Given the description of an element on the screen output the (x, y) to click on. 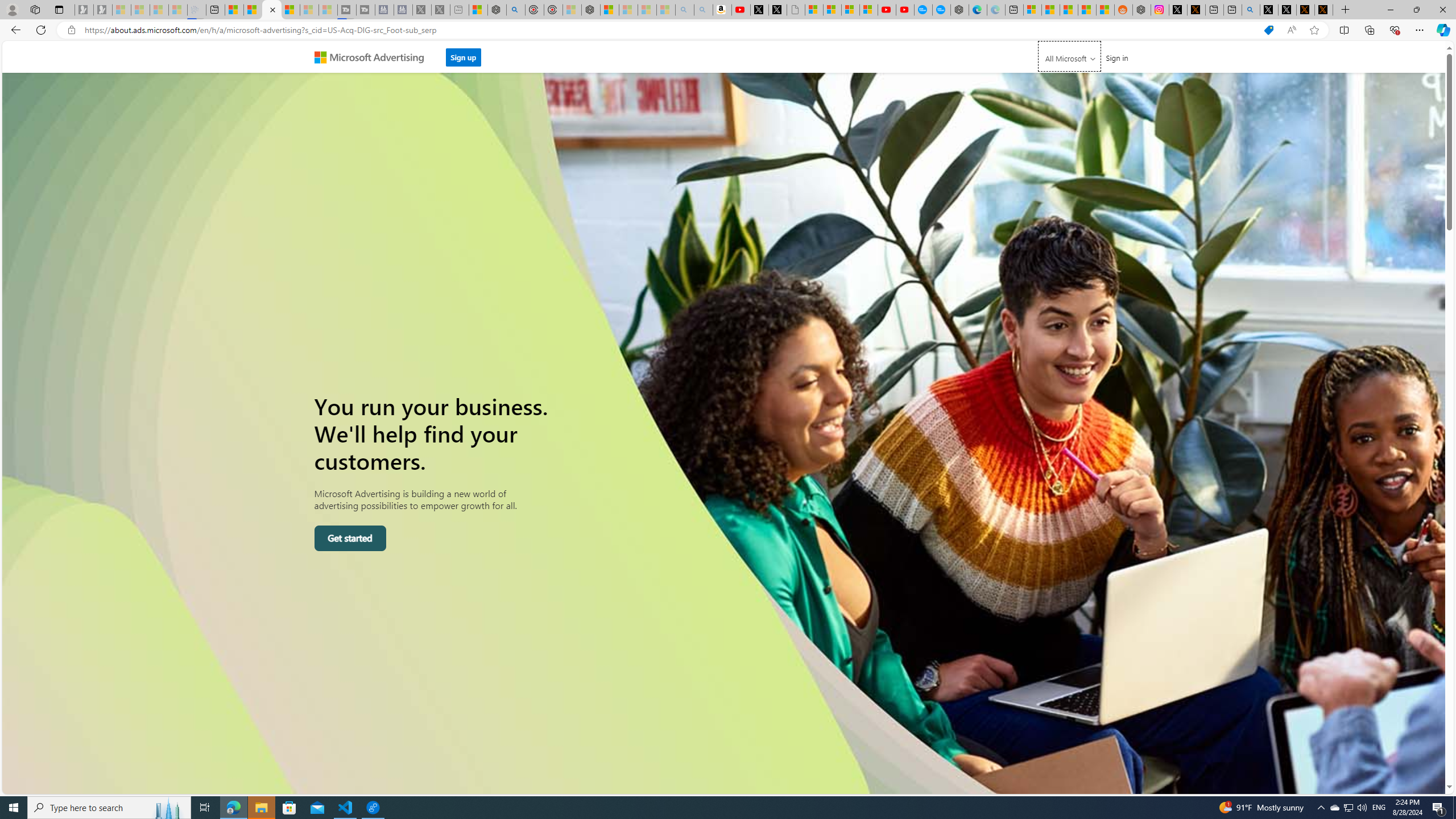
Shopping in Microsoft Edge (1268, 29)
New tab - Sleeping (459, 9)
Profile / X (1268, 9)
Gloom - YouTube (887, 9)
Microsoft Start - Sleeping (309, 9)
Overview (271, 9)
Sign up (463, 57)
amazon - Search - Sleeping (684, 9)
